Given the description of an element on the screen output the (x, y) to click on. 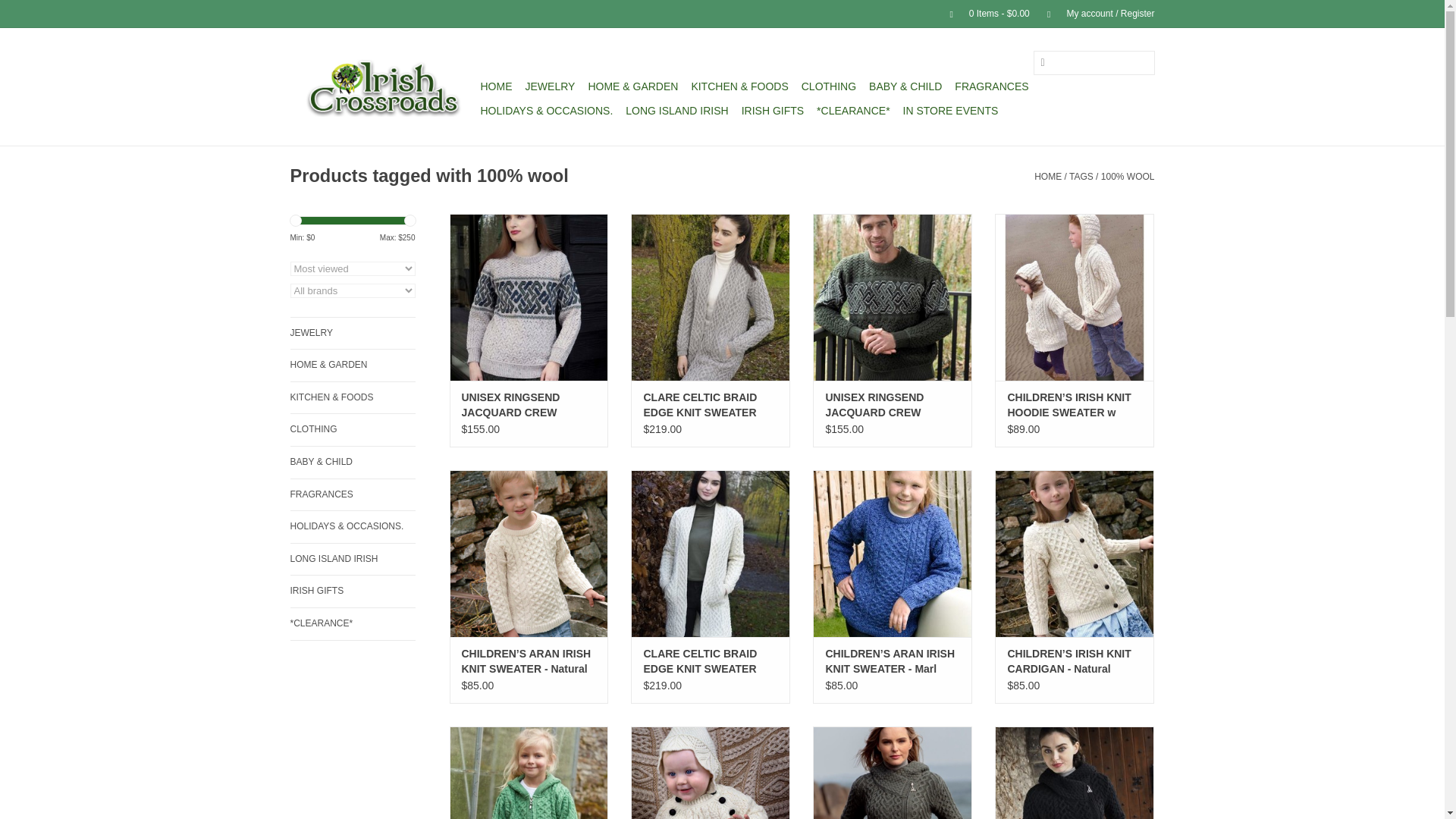
My account (1093, 13)
HOME (496, 86)
JEWELRY (549, 86)
Irish Crossroads Savyille, NY - Irish Gift Shop (382, 86)
Jewelry (549, 86)
Search (1040, 63)
CLOTHING (828, 86)
Cart (983, 13)
